Given the description of an element on the screen output the (x, y) to click on. 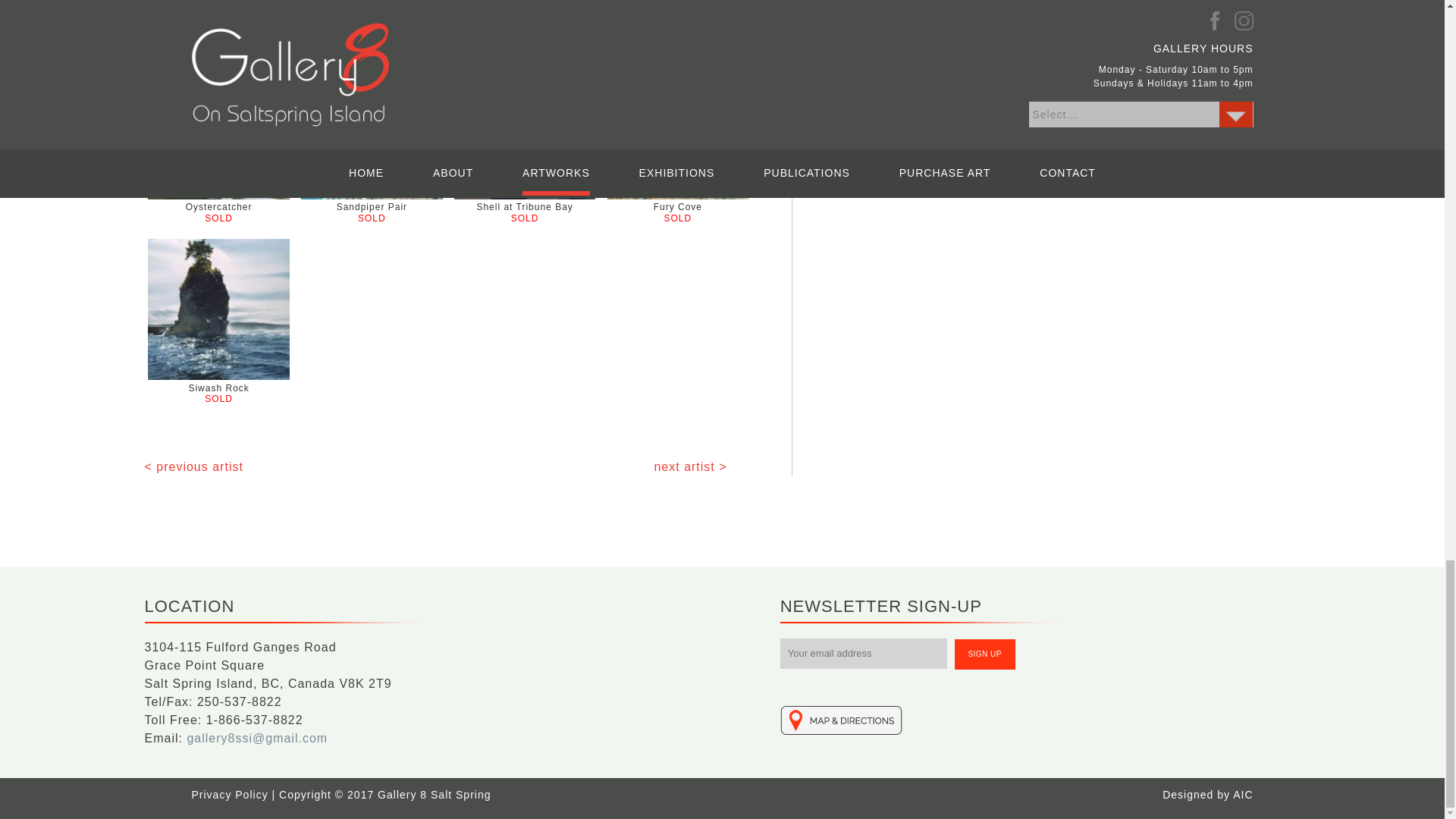
Sign up (984, 654)
